Given the description of an element on the screen output the (x, y) to click on. 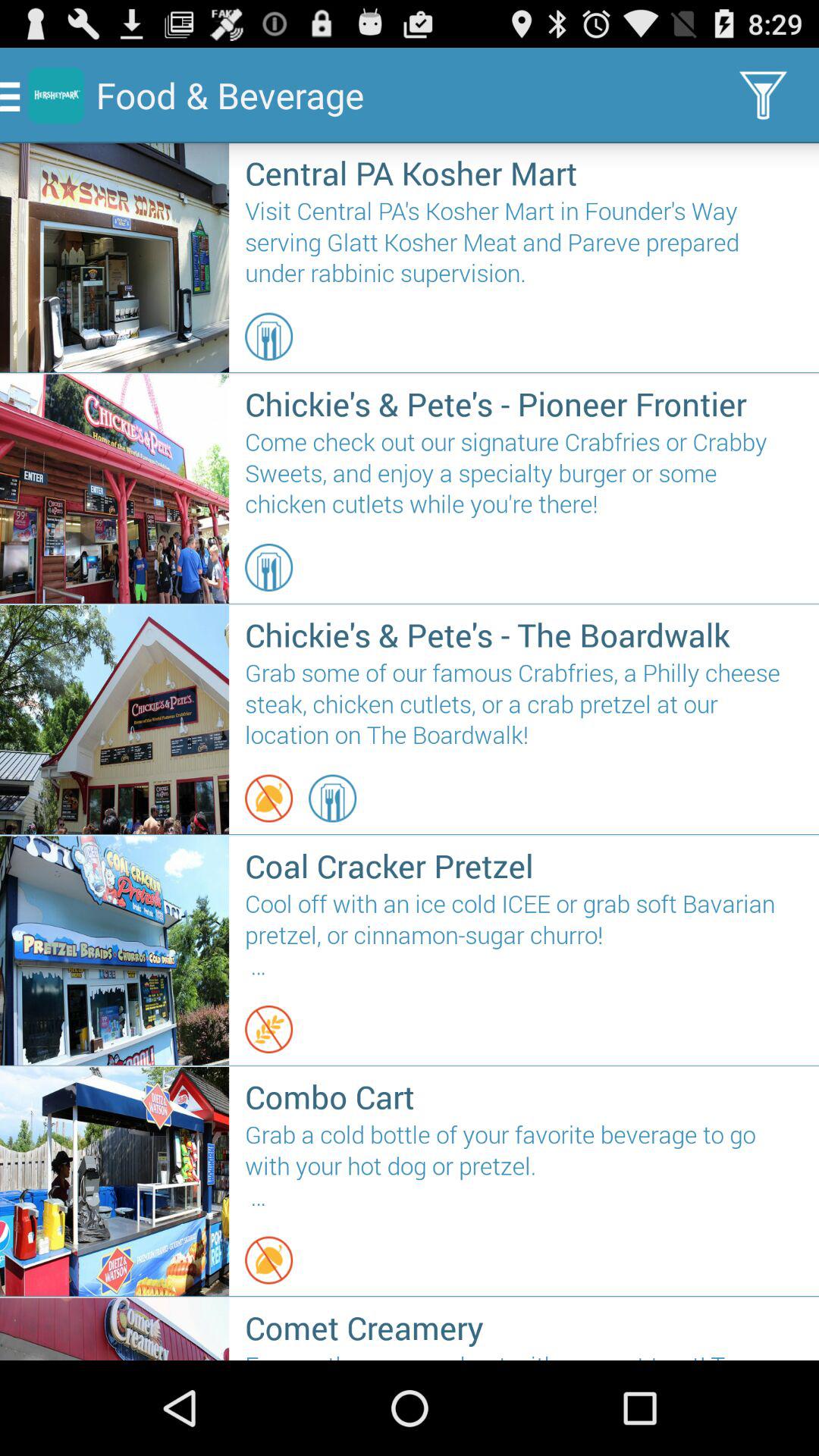
launch the combo cart icon (524, 1096)
